Given the description of an element on the screen output the (x, y) to click on. 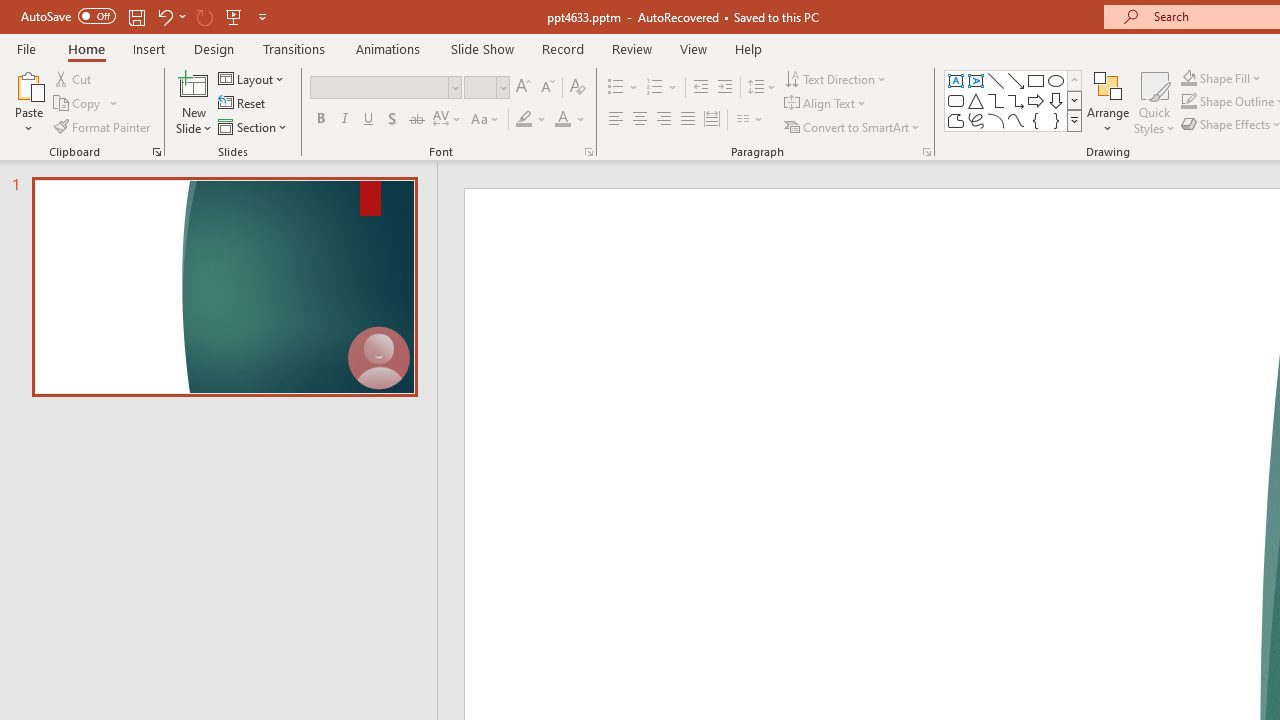
Shape Outline Dark Red, Accent 1 (1188, 101)
